Given the description of an element on the screen output the (x, y) to click on. 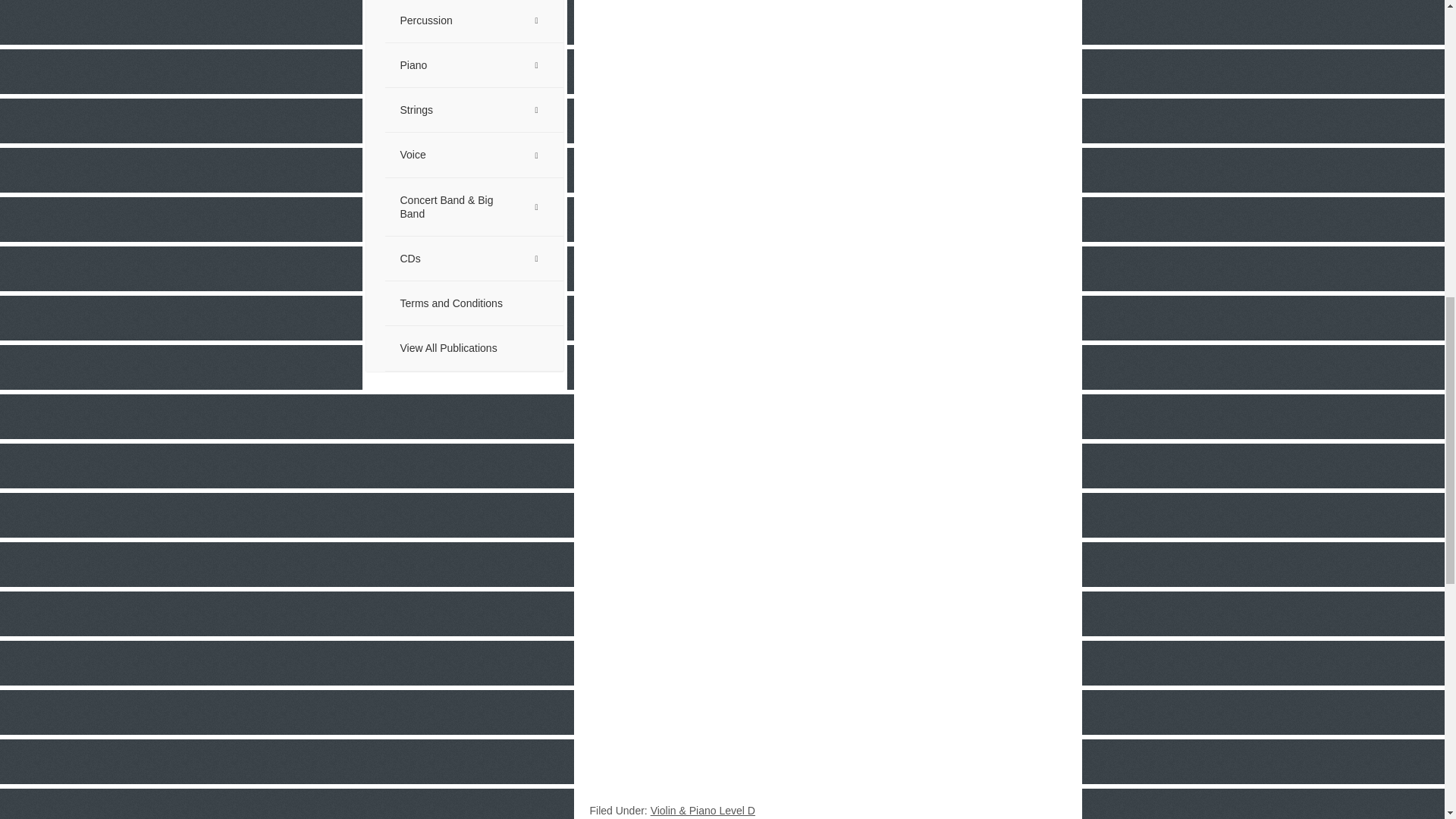
Violin Sweet - Groover's Manoeuvre by Brendan Collins (778, 640)
Violin Sweet - Bowing 747 (778, 339)
Violin Sweet - Fiddler's Bebop by Brendan Collins (778, 89)
